Given the description of an element on the screen output the (x, y) to click on. 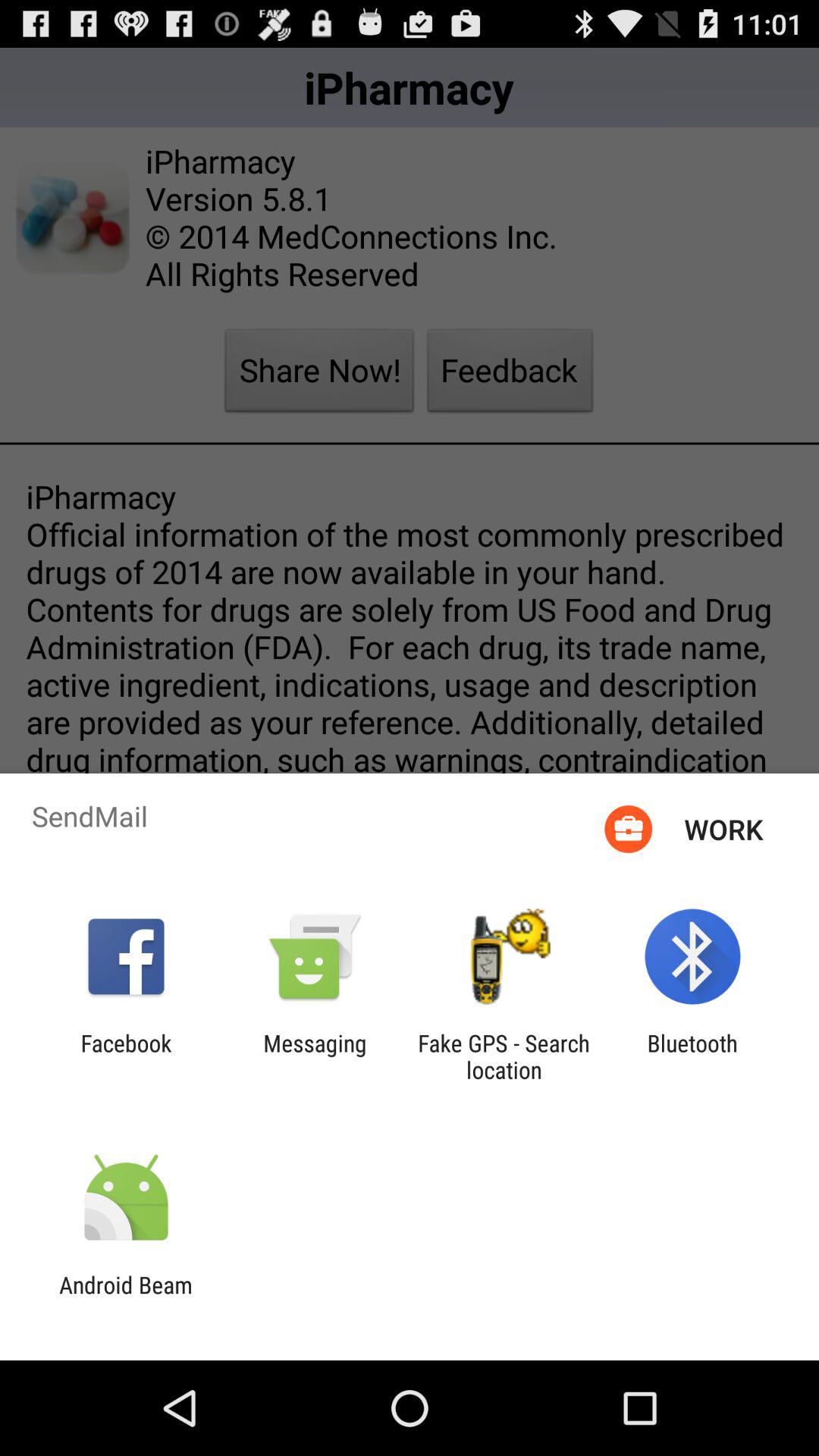
turn off the bluetooth item (692, 1056)
